Given the description of an element on the screen output the (x, y) to click on. 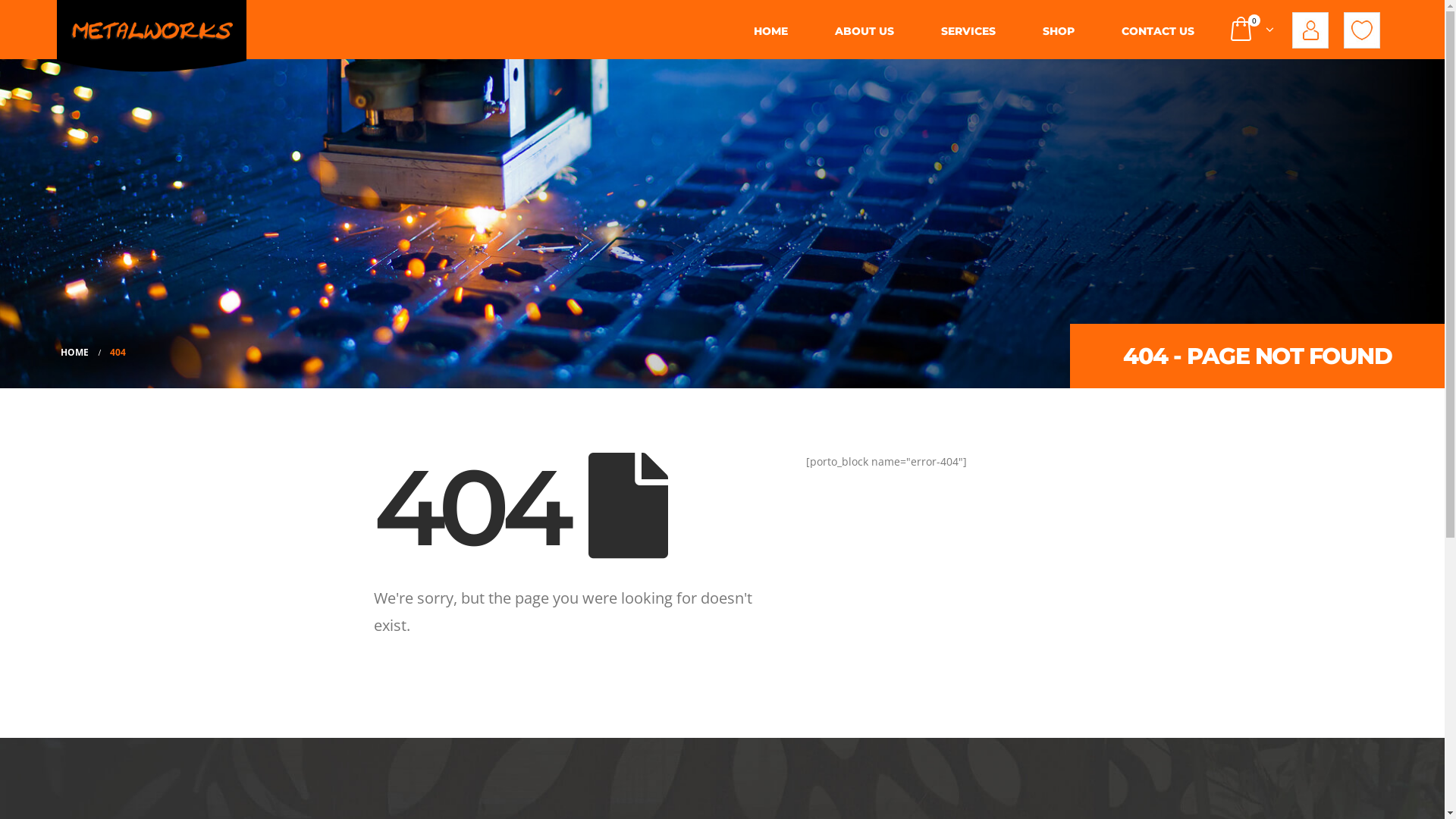
HOME Element type: text (74, 352)
SHOP Element type: text (1057, 31)
ABOUT US Element type: text (863, 31)
SERVICES Element type: text (967, 31)
HOME Element type: text (769, 31)
Associated Metalworks - Custom Metal Products Specialist Element type: hover (151, 36)
CONTACT US Element type: text (1156, 31)
My Account Element type: hover (1310, 28)
